Given the description of an element on the screen output the (x, y) to click on. 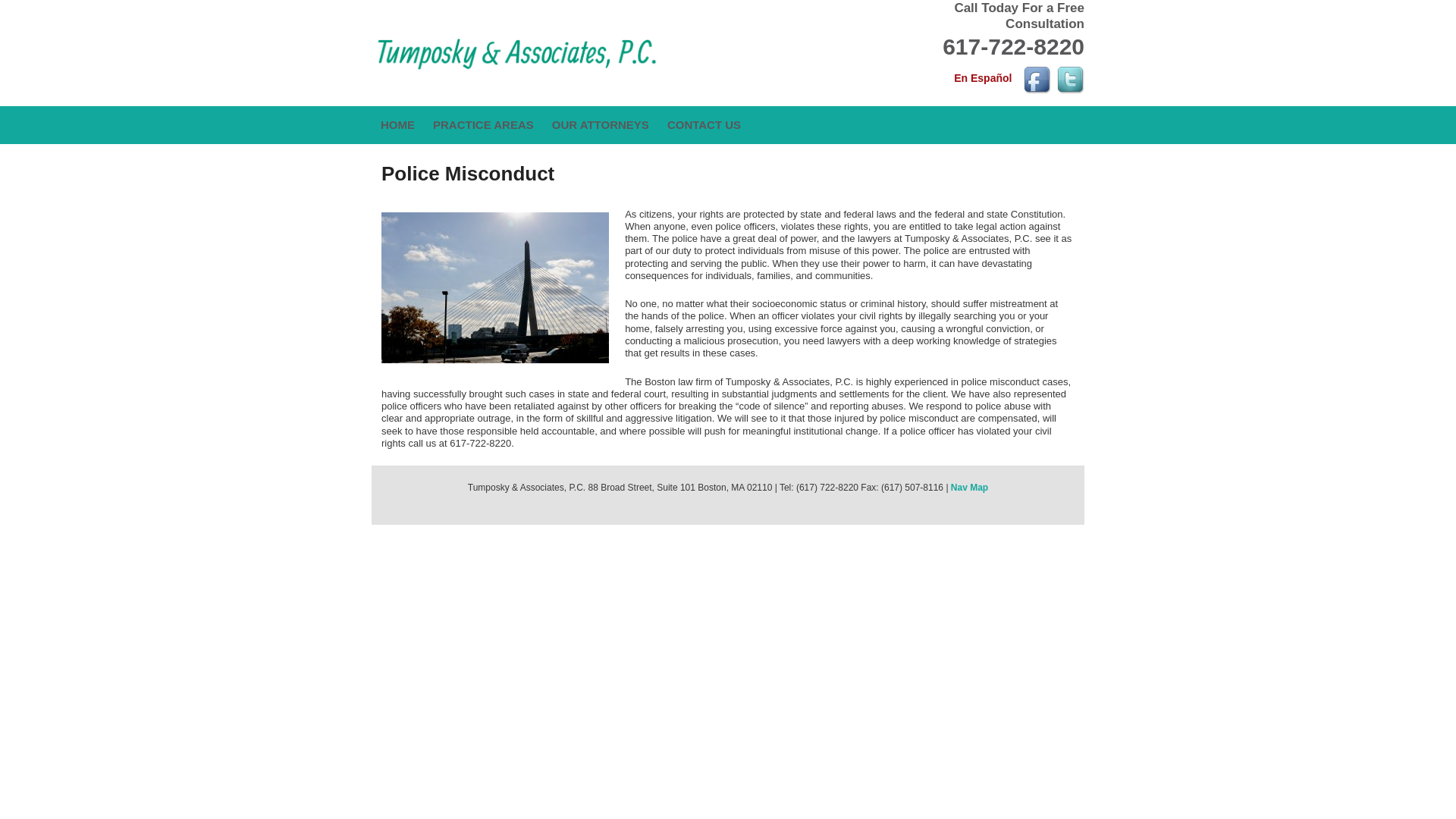
Nav Map (969, 487)
Nav Map (969, 487)
HOME (397, 125)
OUR ATTORNEYS (600, 125)
CONTACT US (703, 125)
PRACTICE AREAS (483, 125)
